Given the description of an element on the screen output the (x, y) to click on. 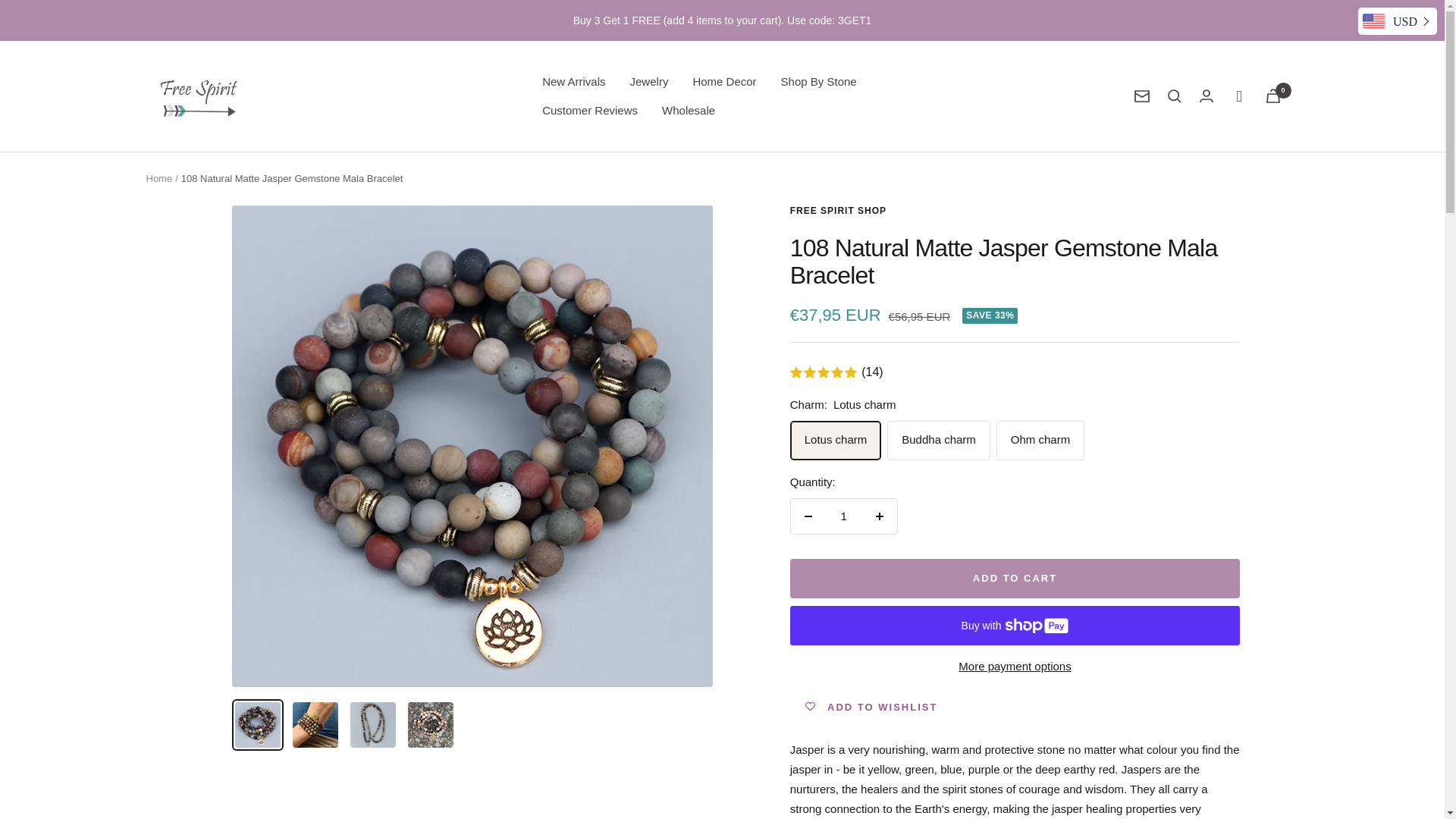
Free Spirit Shop (198, 95)
Jewelry (649, 81)
1 (843, 515)
Wholesale (688, 110)
Customer Reviews (589, 110)
Increase quantity (878, 515)
Home (158, 178)
FREE SPIRIT SHOP (838, 210)
ADD TO CART (1015, 578)
Newsletter (1142, 96)
New Arrivals (573, 81)
0 (1273, 95)
  ADD TO WISHLIST (871, 706)
More payment options (1015, 666)
